Given the description of an element on the screen output the (x, y) to click on. 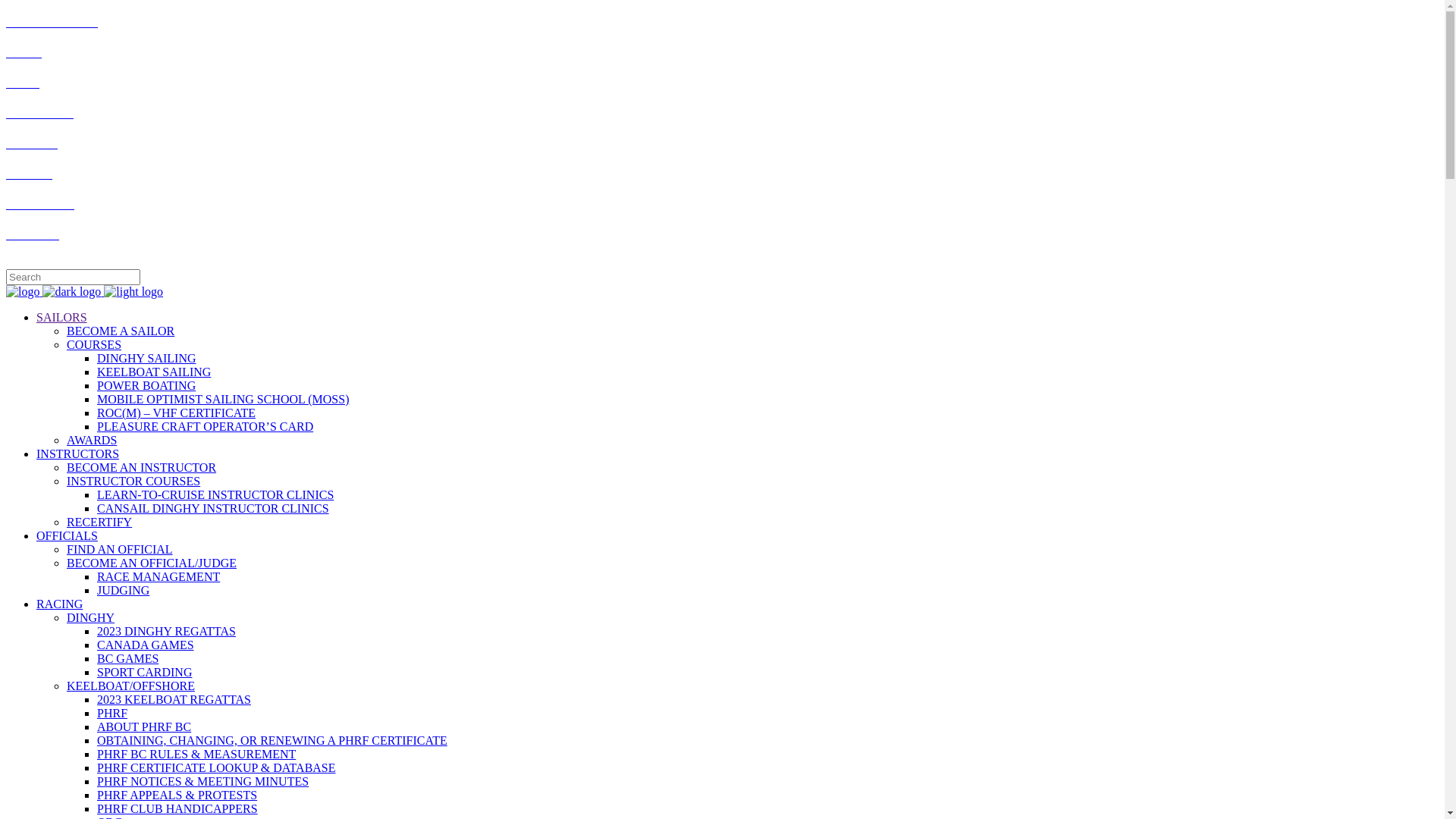
BC GAMES Element type: text (127, 658)
RECERTIFY Element type: text (98, 521)
MOBILE OPTIMIST SAILING SCHOOL (MOSS) Element type: text (222, 398)
INSTRUCTOR COURSES Element type: text (133, 480)
NEWS    Element type: text (23, 51)
RESOURCES    Element type: text (39, 112)
ABOUT PHRF BC Element type: text (144, 726)
RACE MANAGEMENT Element type: text (158, 576)
PHRF BC RULES & MEASUREMENT Element type: text (196, 753)
TEAM BC    Element type: text (31, 142)
COURSES Element type: text (93, 344)
2023 KEELBOAT REGATTAS Element type: text (174, 699)
BECOME AN OFFICIAL/JUDGE Element type: text (151, 562)
AWARDS Element type: text (91, 439)
PHRF NOTICES & MEETING MINUTES Element type: text (202, 781)
DINGHY Element type: text (90, 617)
CONTACT    Element type: text (32, 233)
KEELBOAT SAILING Element type: text (153, 371)
RACING Element type: text (59, 603)
POWER BOATING Element type: text (146, 385)
COVID-19 UPDATES Element type: text (51, 21)
2023 DINGHY REGATTAS Element type: text (166, 630)
PHRF CLUB HANDICAPPERS Element type: text (177, 808)
SAILORS Element type: text (61, 316)
OFFICIALS Element type: text (66, 535)
KEELBOAT/OFFSHORE Element type: text (130, 685)
LEARN-TO-CRUISE INSTRUCTOR CLINICS Element type: text (215, 494)
BECOME A SAILOR Element type: text (120, 330)
INSTRUCTORS Element type: text (77, 453)
SPORT CARDING Element type: text (144, 671)
PHRF CERTIFICATE LOOKUP & DATABASE Element type: text (216, 767)
PHRF Element type: text (112, 712)
JOBS    Element type: text (22, 81)
DONATE    Element type: text (29, 172)
PHRF APPEALS & PROTESTS Element type: text (177, 794)
OBTAINING, CHANGING, OR RENEWING A PHRF CERTIFICATE Element type: text (272, 740)
FIND AN OFFICIAL Element type: text (119, 548)
JUDGING Element type: text (123, 589)
BECOME AN INSTRUCTOR Element type: text (141, 467)
DINGHY SAILING Element type: text (146, 357)
CANSAIL DINGHY INSTRUCTOR CLINICS Element type: text (213, 508)
CANADA GAMES Element type: text (145, 644)
SAFE SPORT    Element type: text (40, 203)
